Given the description of an element on the screen output the (x, y) to click on. 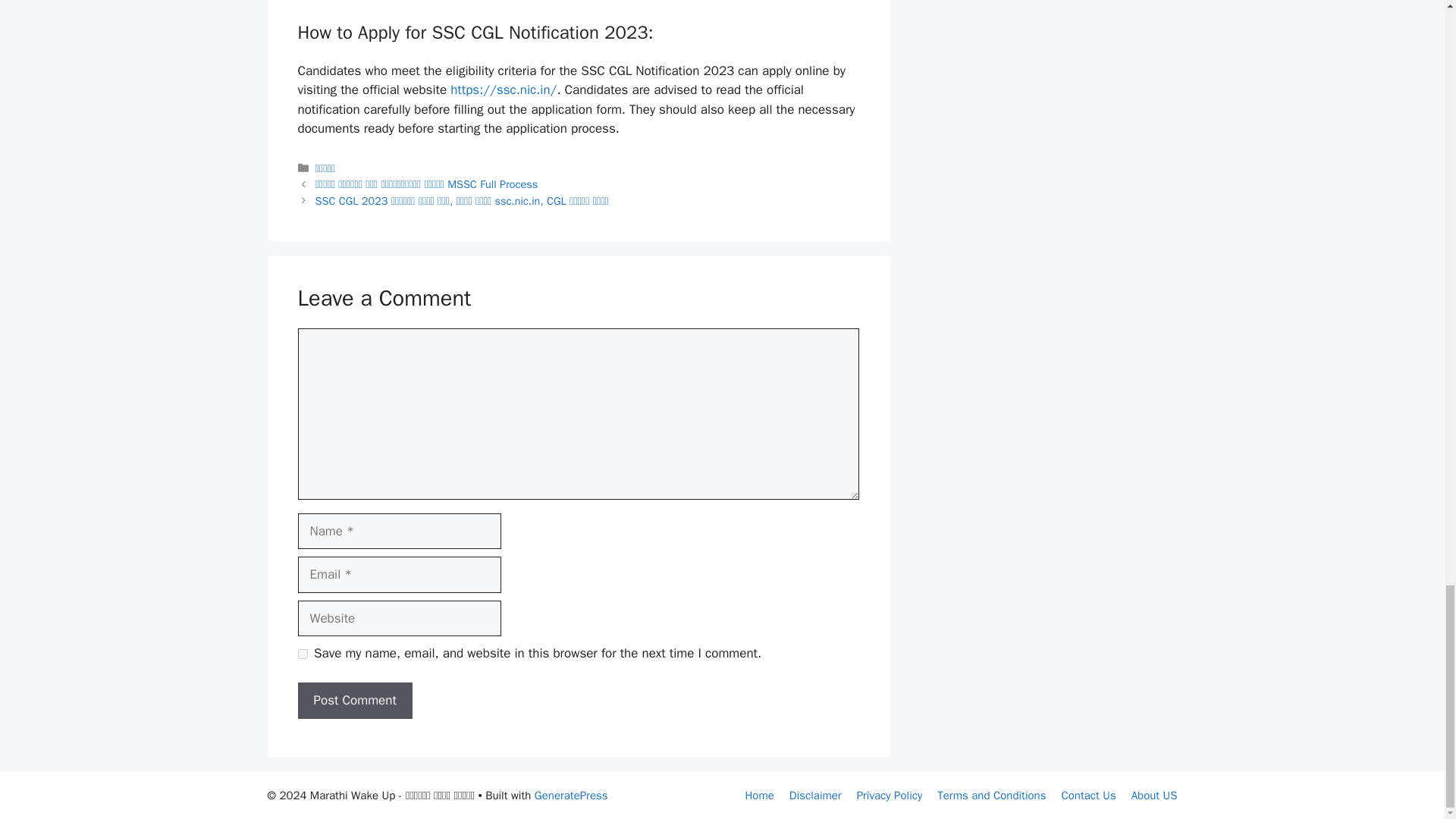
Post Comment (354, 700)
Home (758, 795)
About US (1154, 795)
Post Comment (354, 700)
Privacy Policy (890, 795)
yes (302, 654)
Contact Us (1088, 795)
Terms and Conditions (991, 795)
Disclaimer (815, 795)
